Given the description of an element on the screen output the (x, y) to click on. 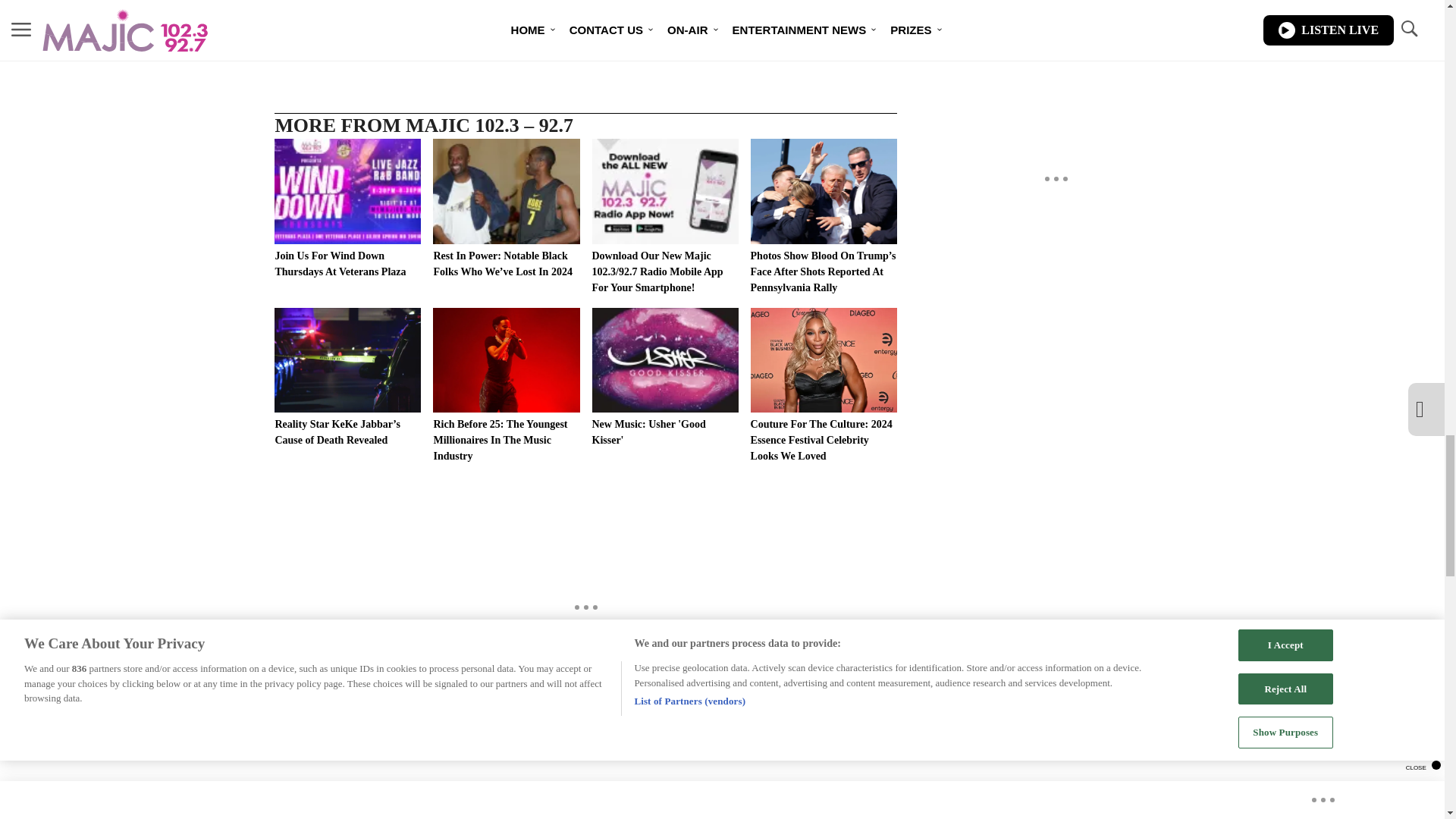
Vuukle Sharebar Widget (585, 15)
Vuukle Comments Widget (585, 785)
